Given the description of an element on the screen output the (x, y) to click on. 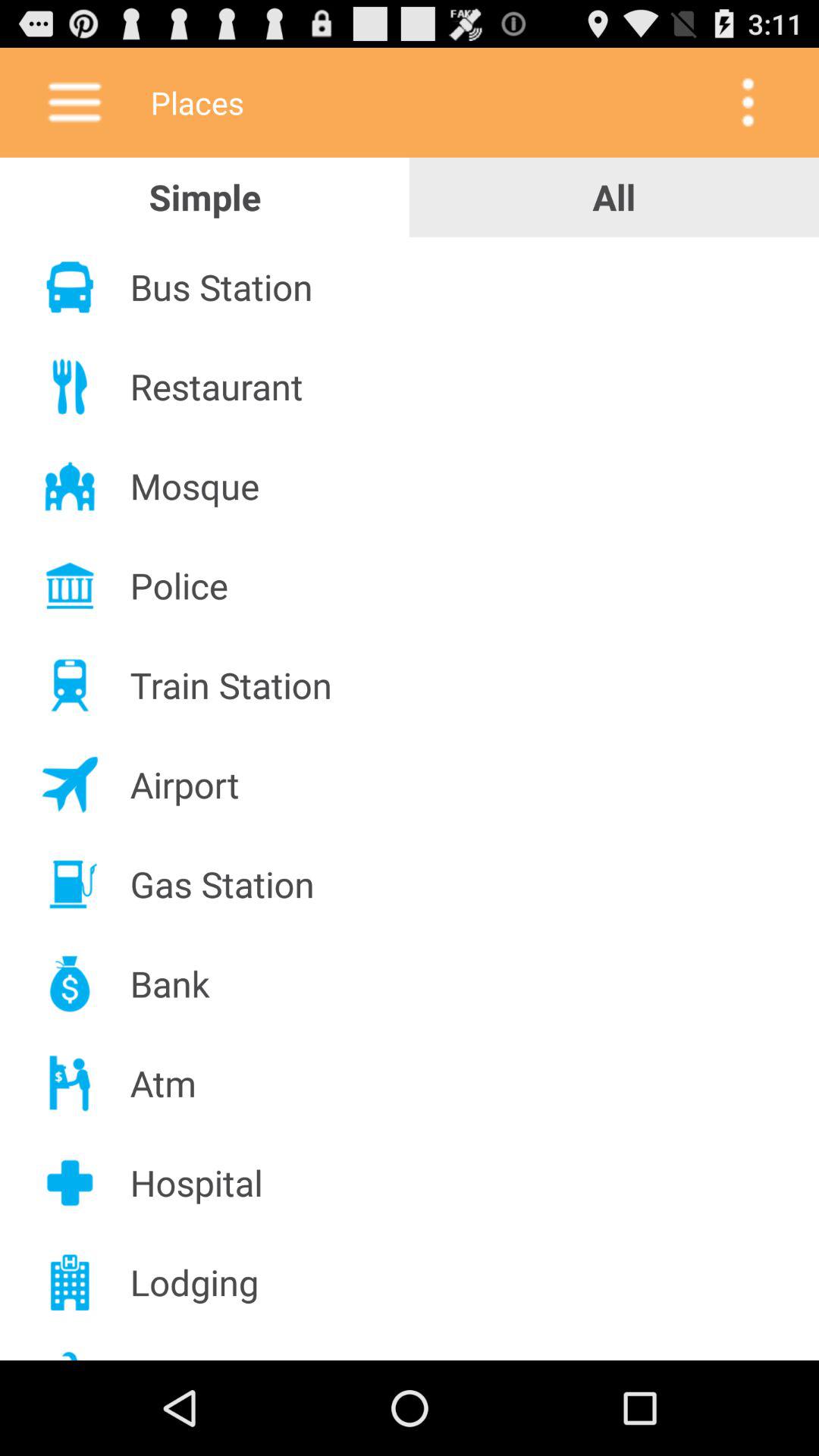
select all right to simple (614, 197)
select the symbol left to restaurant (69, 386)
click on the icon which is left to the lodging (69, 1282)
select the icon  which indicates aeroplane icon (69, 785)
